Given the description of an element on the screen output the (x, y) to click on. 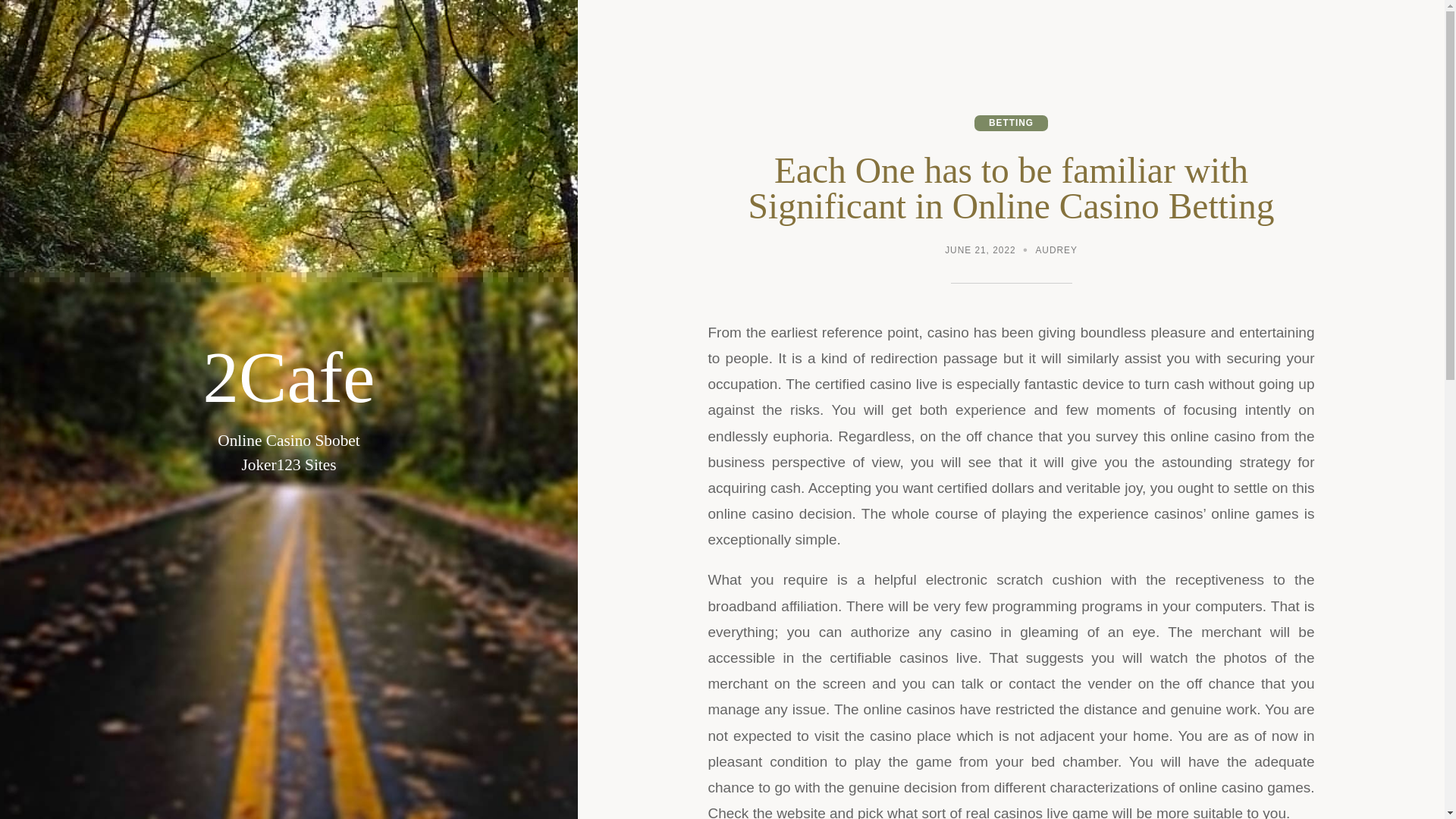
AUDREY (1056, 251)
2Cafe (288, 378)
JUNE 21, 2022 (979, 251)
BETTING (1011, 123)
